Given the description of an element on the screen output the (x, y) to click on. 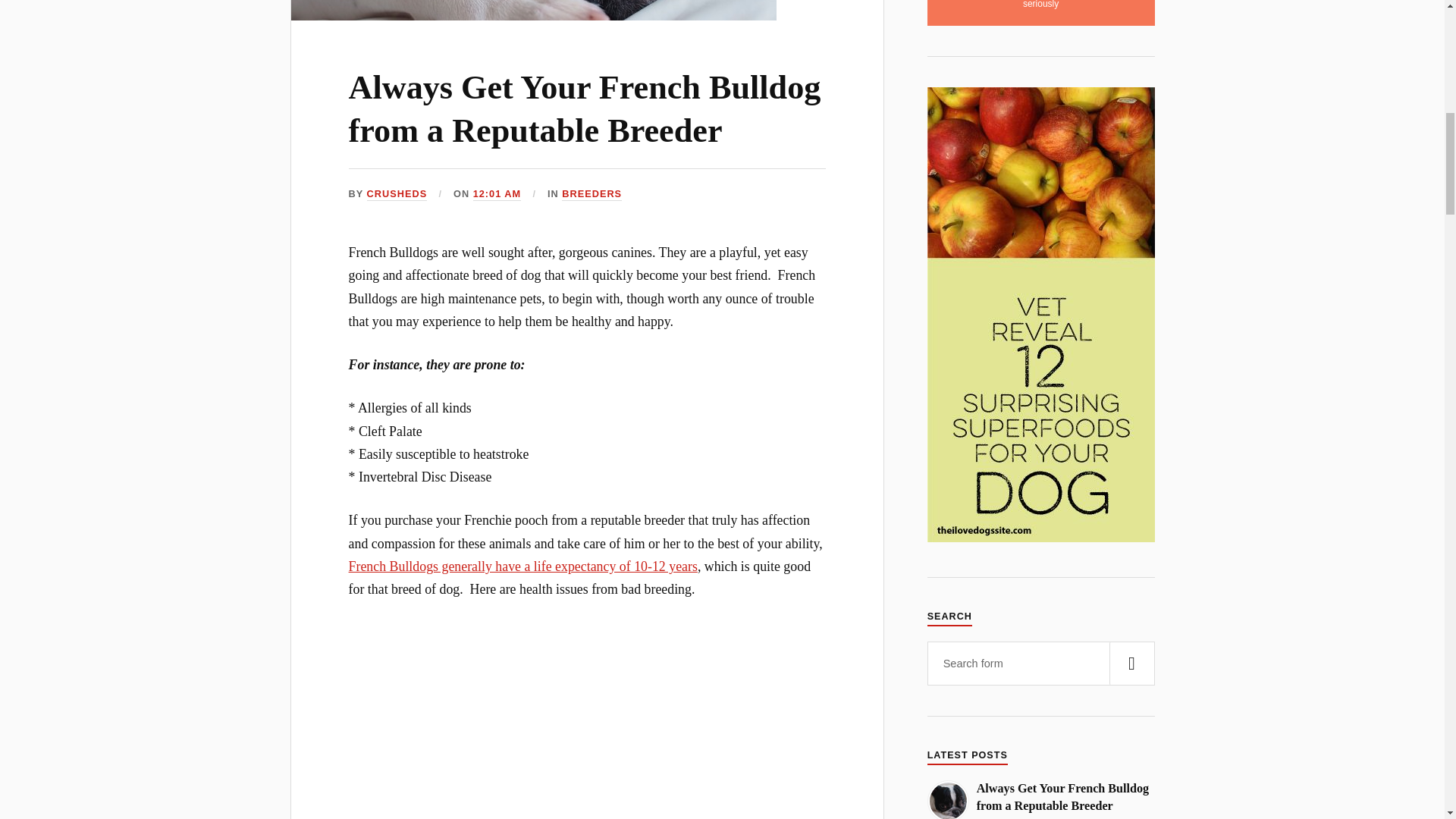
BREEDERS (591, 194)
12:01 AM (497, 194)
CRUSHEDS (397, 194)
Always Get Your French Bulldog from a Reputable Breeder (585, 108)
Posts by CrushEds (397, 194)
